Given the description of an element on the screen output the (x, y) to click on. 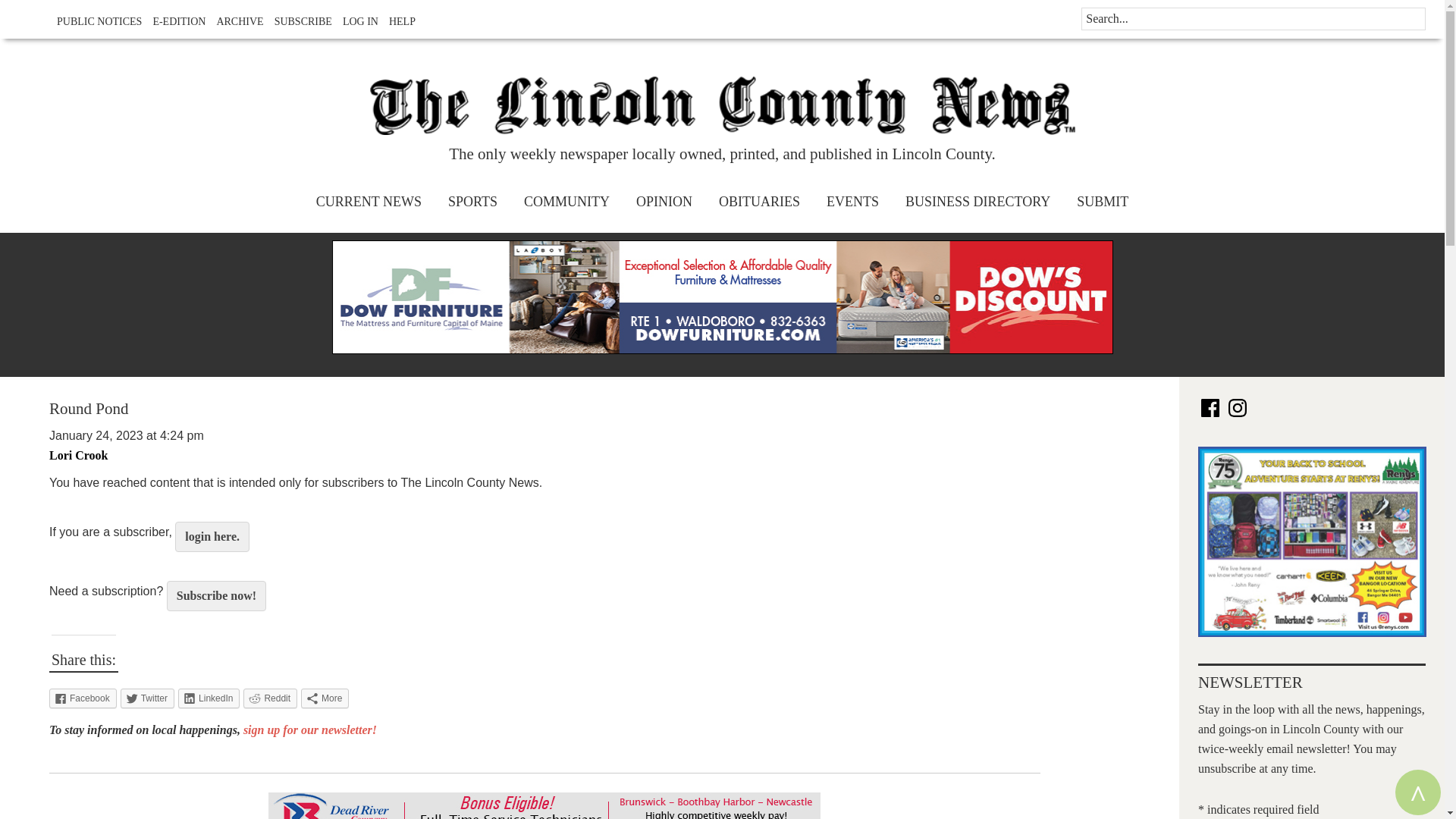
E-EDITION (174, 21)
CURRENT NEWS (368, 201)
Search (46, 28)
Click to share on Twitter (147, 698)
SPORTS (472, 201)
EVENTS (852, 201)
Click to share on LinkedIn (208, 698)
OPINION (663, 201)
ARCHIVE (235, 21)
PUBLIC NOTICES (95, 21)
COMMUNITY (566, 201)
SUBSCRIBE (298, 21)
LOG IN (356, 21)
Click to share on Facebook (82, 698)
HELP (397, 21)
